Given the description of an element on the screen output the (x, y) to click on. 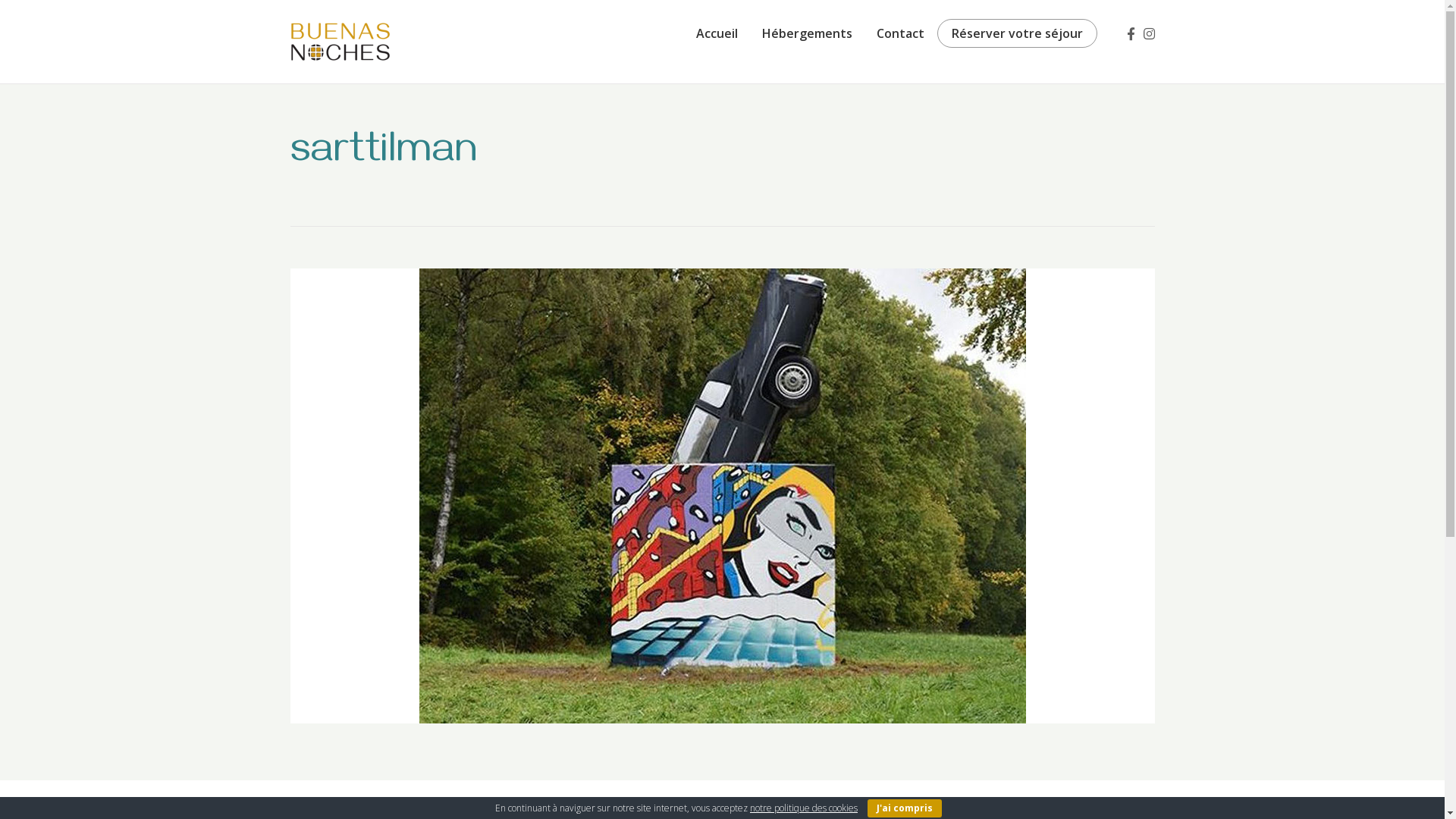
notre politique des cookies Element type: text (803, 807)
Accueil Element type: text (716, 33)
J'ai compris Element type: text (904, 808)
Contact Element type: text (900, 33)
